Given the description of an element on the screen output the (x, y) to click on. 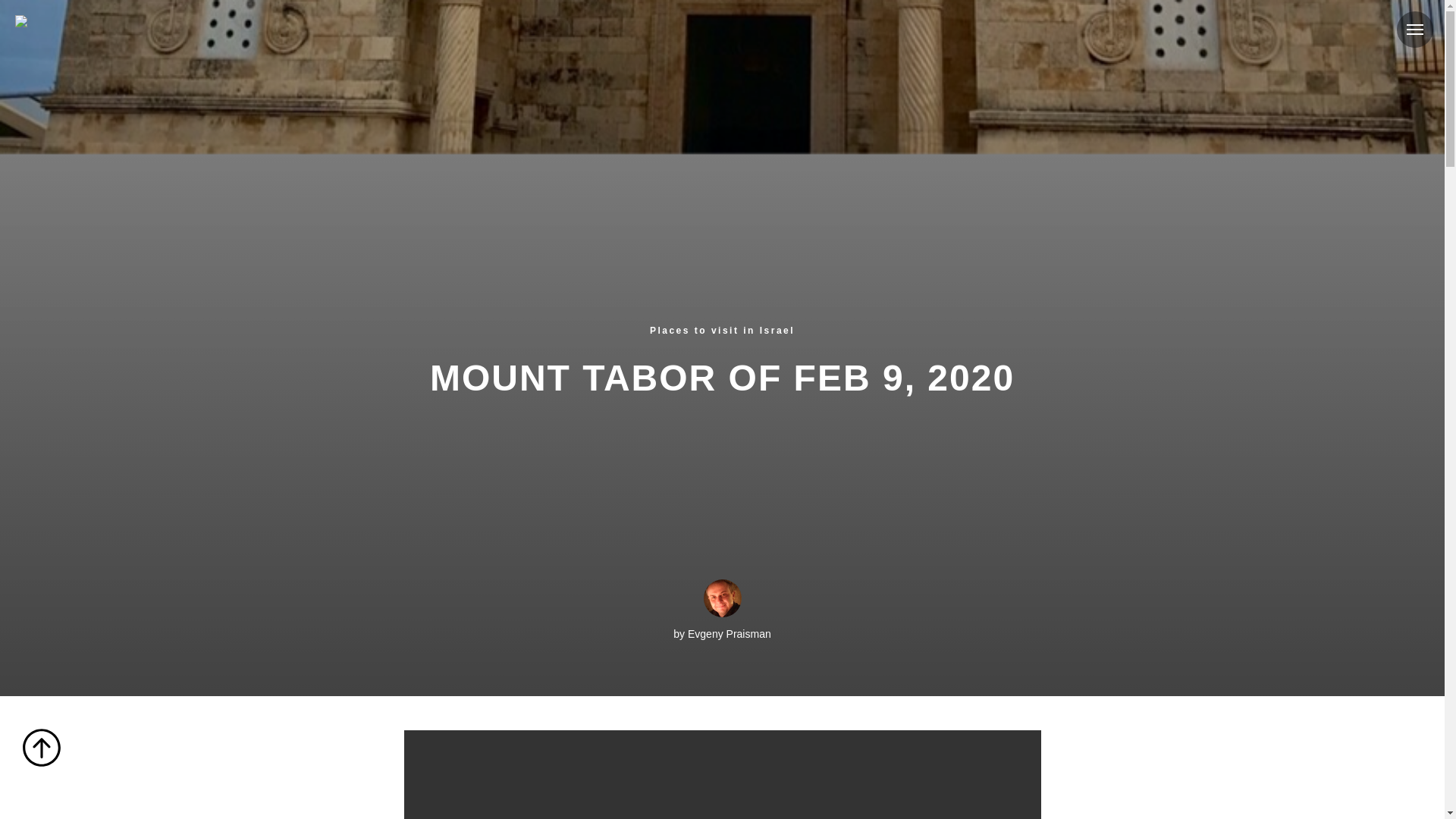
by Evgeny Praisman (721, 610)
